Given the description of an element on the screen output the (x, y) to click on. 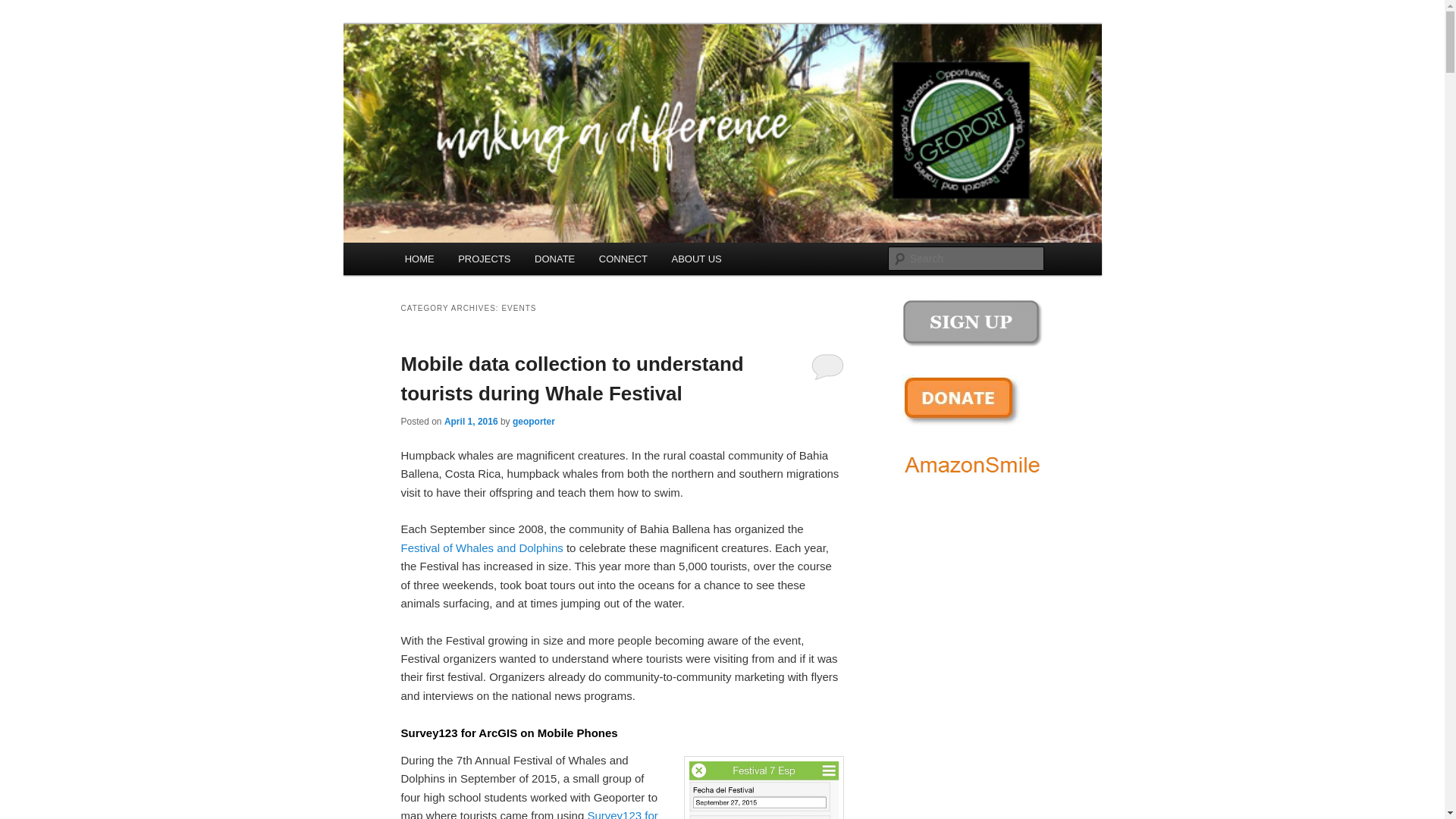
Search (24, 8)
ABOUT US (696, 258)
DONATE (554, 258)
April 1, 2016 (470, 420)
Festival of Whales and Dolphins (481, 547)
View all posts by geoporter (533, 420)
geoporter (533, 420)
9:45 am (470, 420)
CONNECT (622, 258)
Survey123 for ArcGIS (529, 814)
GEOPORTer (467, 78)
HOME (419, 258)
PROJECTS (483, 258)
